Given the description of an element on the screen output the (x, y) to click on. 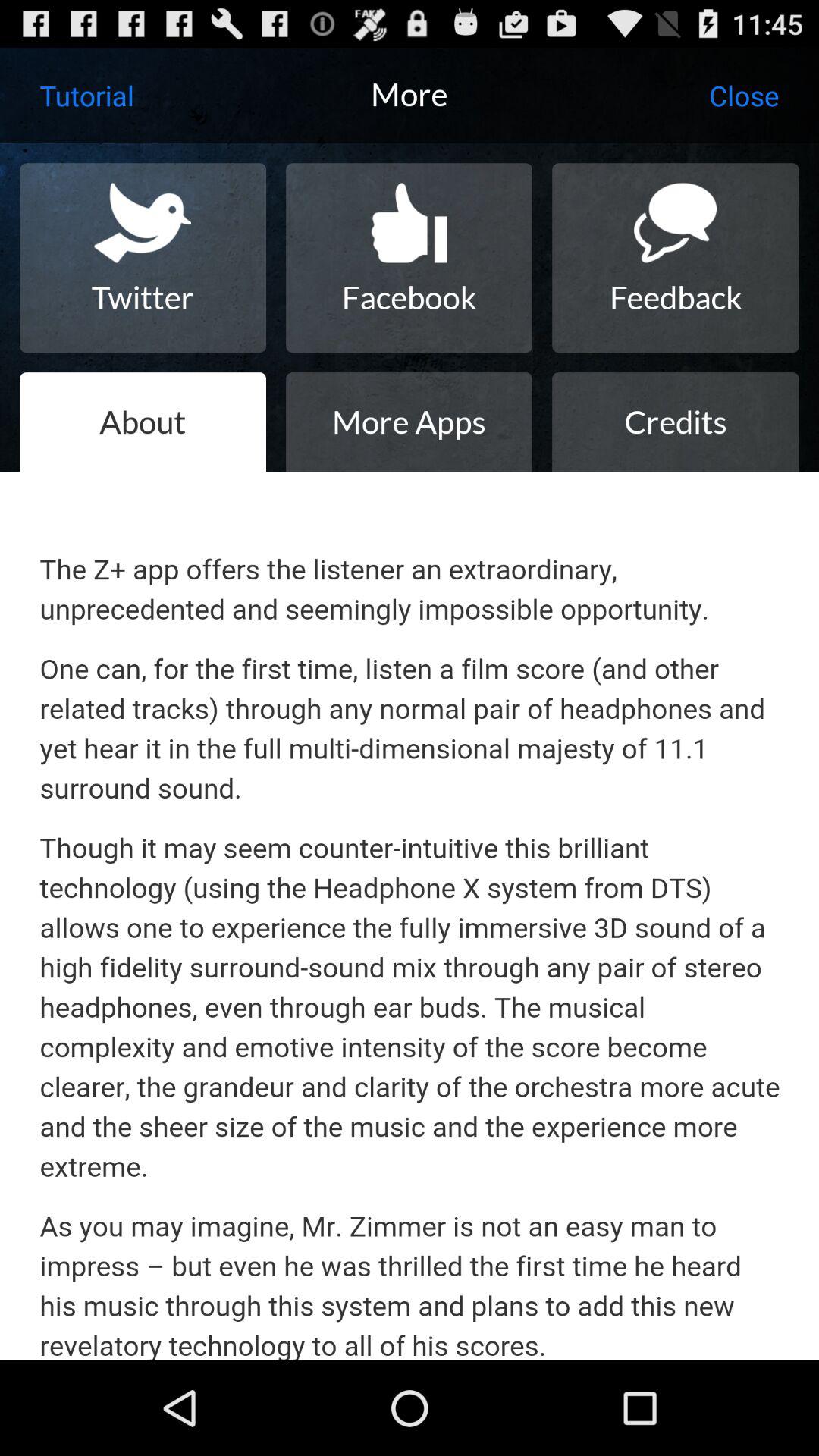
select facebook item (409, 257)
